Given the description of an element on the screen output the (x, y) to click on. 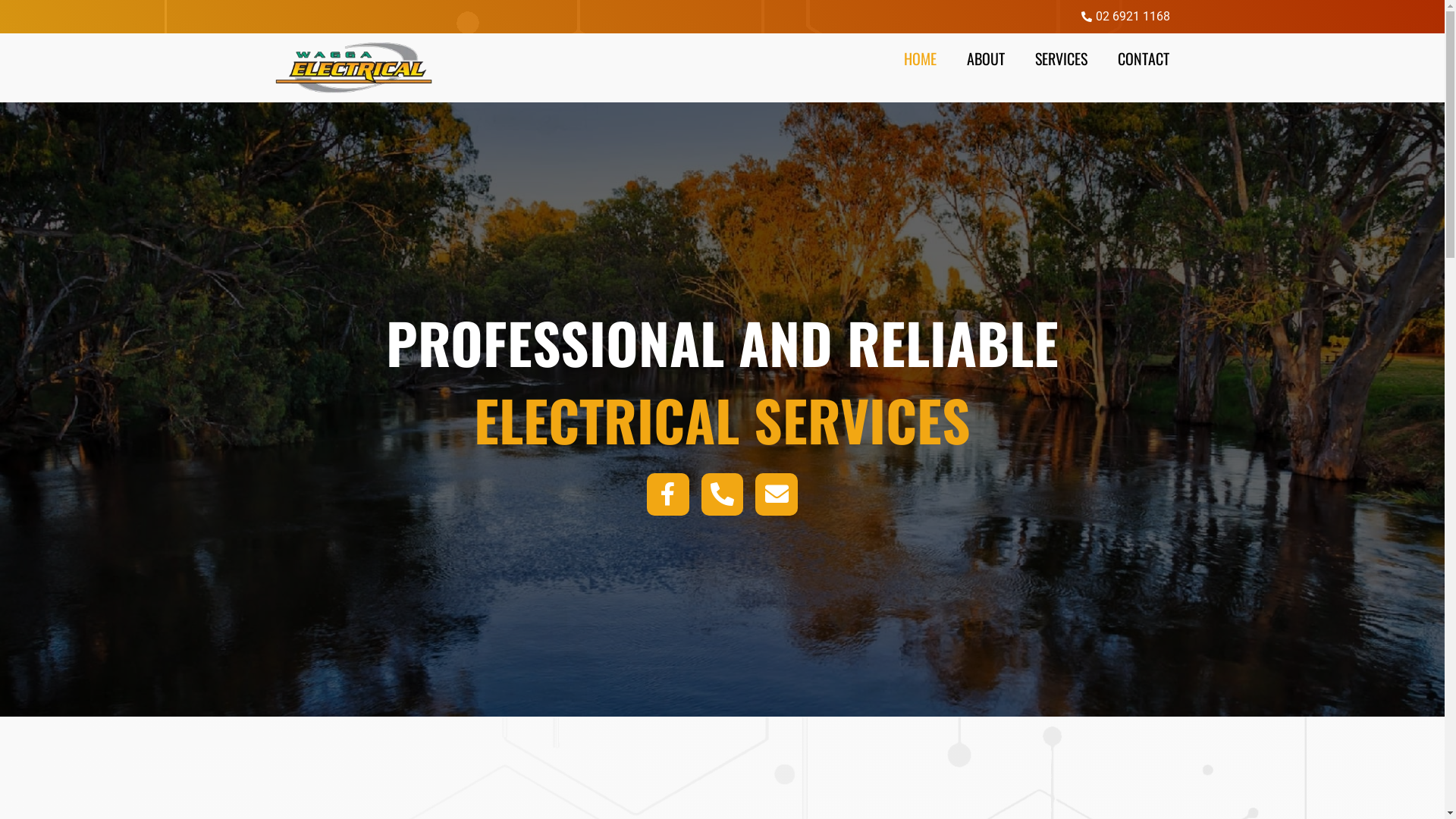
CONTACT Element type: text (1143, 57)
02 6921 1168 Element type: text (721, 16)
ABOUT Element type: text (985, 57)
HOME Element type: text (919, 57)
SERVICES Element type: text (1060, 57)
